Given the description of an element on the screen output the (x, y) to click on. 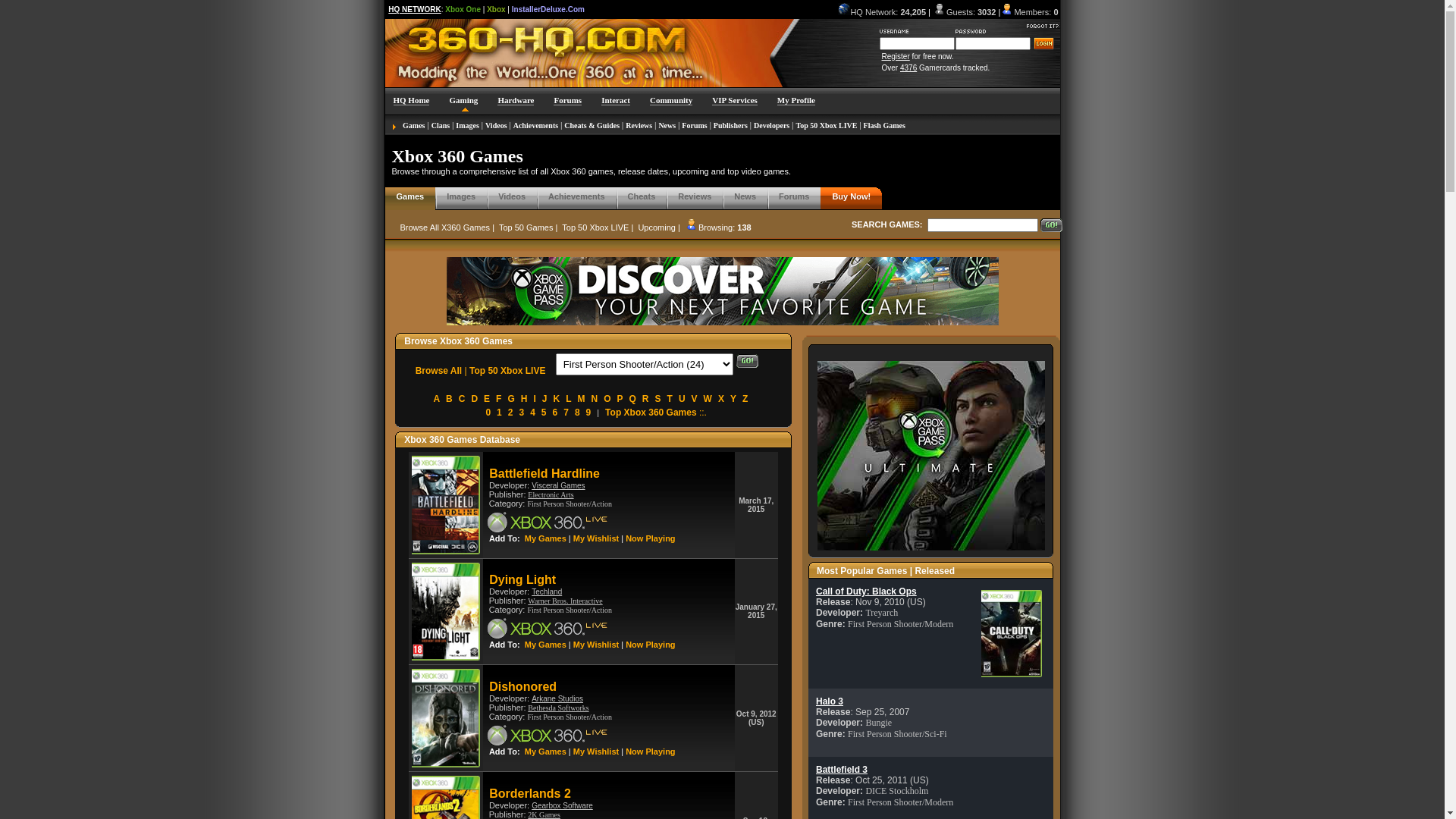
Dishonored Element type: text (522, 687)
Videos Element type: text (511, 195)
First Person Shooter/Modern Element type: text (900, 623)
S Element type: text (658, 398)
8 Element type: text (577, 412)
Browsing: 138 Element type: text (724, 227)
X Element type: text (721, 398)
Clans Element type: text (440, 125)
B Element type: text (448, 398)
News Element type: text (745, 195)
News Element type: text (666, 125)
Publishers Element type: text (730, 125)
Dying Light Xbox Live Enabled Element type: hover (546, 628)
First Person Shooter/Action Element type: text (569, 716)
Techland Element type: text (546, 591)
9 Element type: text (588, 412)
Now Playing Element type: text (649, 537)
VIP Services Element type: text (734, 100)
Bungie Element type: text (878, 722)
1 Element type: text (499, 412)
G Element type: text (510, 398)
Forums Element type: text (567, 100)
Battlefield Hardline BoxArt, Screenshots and Achievements Element type: hover (445, 504)
Forums Element type: text (693, 125)
Arkane Studios Element type: text (557, 698)
J Element type: text (544, 398)
Cheats & Guides Element type: text (591, 125)
V Element type: text (694, 398)
4 Element type: text (532, 412)
6 Element type: text (554, 412)
Buy Now! Element type: text (850, 195)
Call of Duty: Black Ops Element type: text (865, 591)
Xbox Element type: text (495, 9)
E Element type: text (486, 398)
Top 50 Xbox LIVE Element type: text (507, 370)
My Profile Element type: text (796, 100)
First Person Shooter/Modern Element type: text (900, 802)
Achievements Element type: text (535, 125)
Battlefield Hardline Xbox Live Enabled Element type: hover (546, 521)
2 Element type: text (510, 412)
Upcoming Element type: text (656, 227)
Hardware Element type: text (515, 100)
Forums Element type: text (793, 195)
3 Element type: text (521, 412)
Flash Games Element type: text (884, 125)
Now Playing Element type: text (649, 644)
Borderlands 2 Element type: text (530, 794)
Dishonored Xbox Live Enabled Element type: hover (546, 734)
First Person Shooter/Action Element type: text (569, 503)
Battlefield Hardline Element type: text (544, 474)
Z Element type: text (744, 398)
7 Element type: text (565, 412)
DICE Stockholm Element type: text (896, 790)
HQ Home Element type: text (410, 100)
Dying Light BoxArt, Screenshots and Achievements Element type: hover (445, 611)
Bethesda Softworks Element type: text (557, 707)
U Element type: text (681, 398)
N Element type: text (593, 398)
Browse All Element type: text (438, 370)
My Games Element type: text (545, 644)
Videos Element type: text (496, 125)
T Element type: text (669, 398)
W Element type: text (707, 398)
My Wishlist Element type: text (595, 537)
Interact Element type: text (615, 100)
Dying Light Element type: text (522, 580)
A Element type: text (436, 398)
4376 Element type: text (908, 67)
K Element type: text (555, 398)
5 Element type: text (543, 412)
Developers Element type: text (771, 125)
InstallerDeluxe.Com Element type: text (547, 9)
Top 50 Xbox LIVE Element type: text (825, 125)
H Element type: text (523, 398)
F Element type: text (498, 398)
Halo 3 Element type: text (829, 701)
Visceral Games Element type: text (557, 485)
Achievements Element type: text (576, 195)
Now Playing Element type: text (649, 751)
Games Element type: text (409, 195)
Reviews Element type: text (694, 195)
First Person Shooter/Action Element type: text (569, 609)
R Element type: text (645, 398)
Cheats Element type: text (641, 195)
Treyarch Element type: text (881, 612)
Browse All X360 Games Element type: text (445, 227)
Register Element type: text (895, 56)
Battlefield 3 Element type: text (841, 769)
My Games Element type: text (545, 537)
My Wishlist Element type: text (595, 751)
Top 50 Xbox LIVE Element type: text (594, 227)
Images Element type: text (467, 125)
Video Game Tournaments for Cash $$ Element type: hover (441, 54)
0 Element type: text (487, 412)
Warner Bros. Interactive Element type: text (564, 600)
Y Element type: text (733, 398)
Games Element type: text (413, 125)
Community Element type: text (670, 100)
P Element type: text (620, 398)
Top 50 Games Element type: text (525, 227)
Forgot Password Element type: hover (1042, 22)
Q Element type: text (632, 398)
First Person Shooter/Sci-Fi Element type: text (897, 733)
O Element type: text (606, 398)
Dishonored BoxArt, Screenshots and Achievements Element type: hover (445, 717)
My Wishlist Element type: text (595, 644)
Top Xbox 360 Games ::. Element type: text (655, 412)
My Games Element type: text (545, 751)
M Element type: text (580, 398)
Xbox One Element type: text (462, 9)
Electronic Arts Element type: text (550, 494)
Reviews Element type: text (638, 125)
I Element type: text (534, 398)
Gearbox Software Element type: text (562, 805)
L Element type: text (568, 398)
D Element type: text (473, 398)
C Element type: text (461, 398)
Images Element type: text (460, 195)
Gaming Element type: text (462, 99)
